Given the description of an element on the screen output the (x, y) to click on. 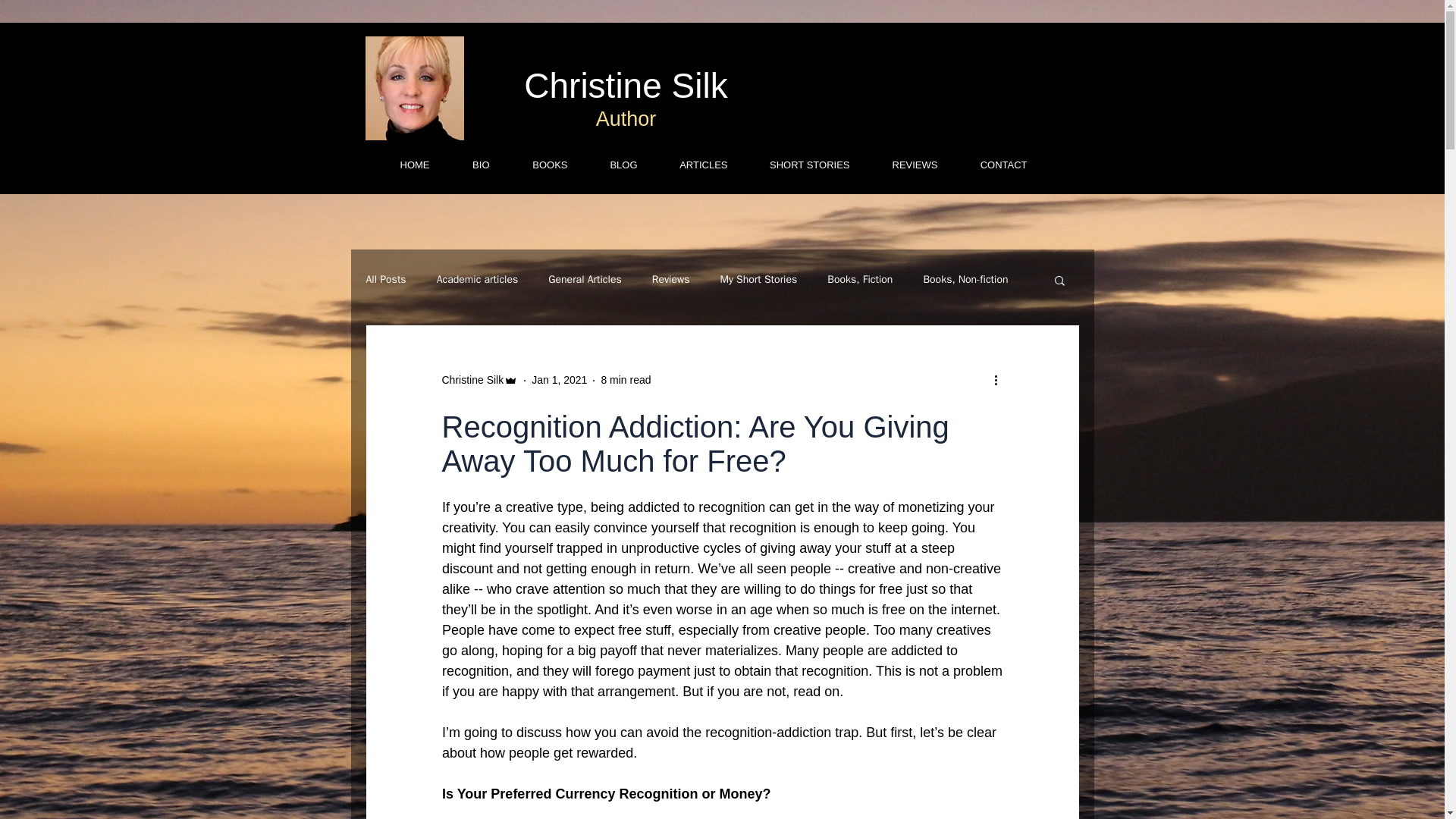
General Articles (584, 279)
Jan 1, 2021 (558, 379)
Books, Non-fiction (965, 279)
8 min read (624, 379)
Christine Silk (472, 380)
My Short Stories (758, 279)
SHORT STORIES (796, 164)
All Posts (385, 279)
HOME (401, 164)
CONTACT (990, 164)
BIO (467, 164)
BOOKS (536, 164)
BLOG (611, 164)
Academic articles (477, 279)
Books, Fiction (859, 279)
